Given the description of an element on the screen output the (x, y) to click on. 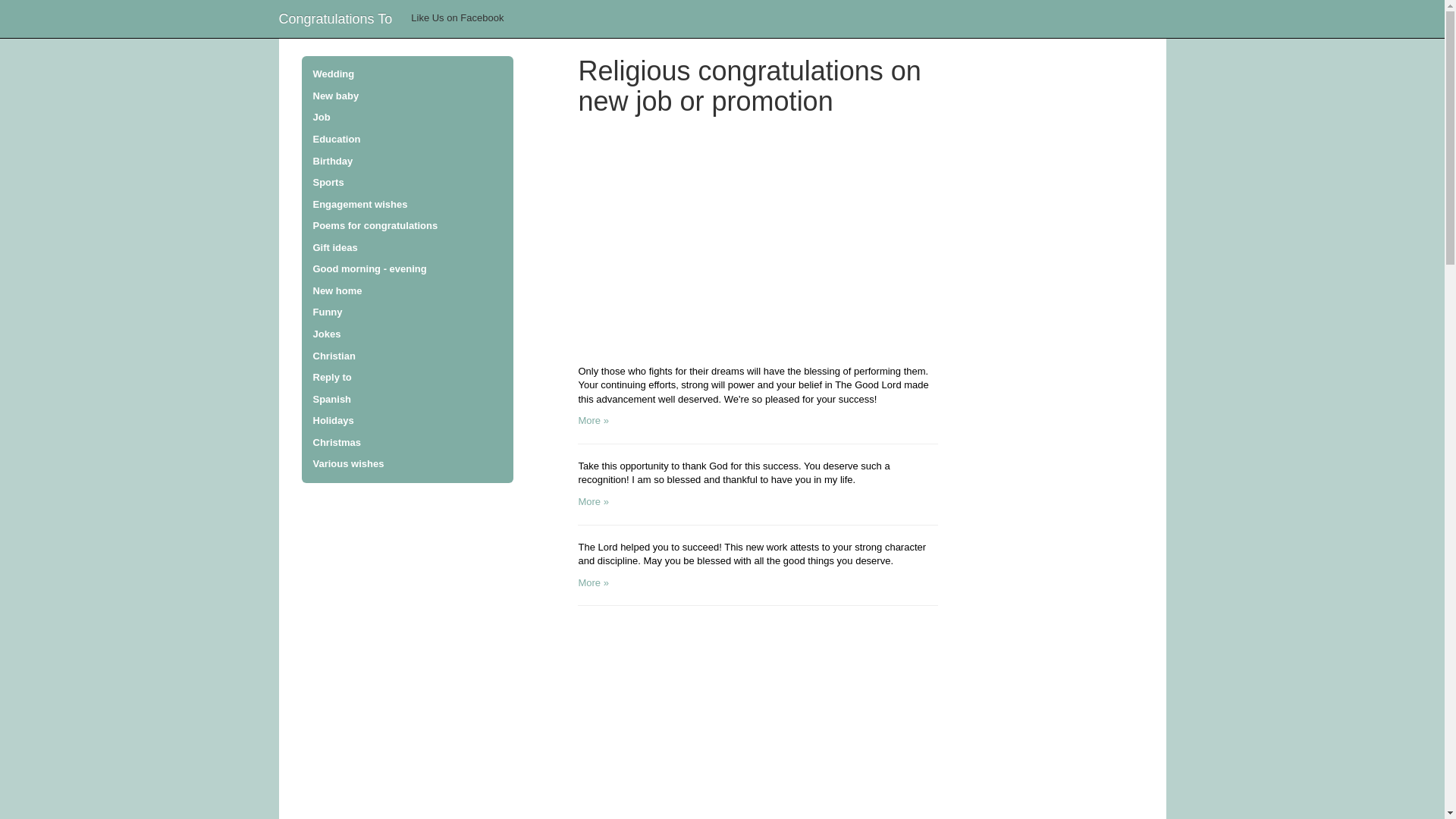
Poems for congratulations (407, 226)
Jokes (407, 334)
Funny (407, 312)
Sports (407, 182)
New baby (407, 96)
Gift ideas (407, 248)
Engagement wishes (407, 205)
Advertisement (757, 244)
New home (407, 291)
Congratulations To (334, 18)
Holidays (407, 421)
Birthday (407, 160)
Good morning - evening (407, 269)
Christmas (407, 443)
Various wishes (407, 464)
